Given the description of an element on the screen output the (x, y) to click on. 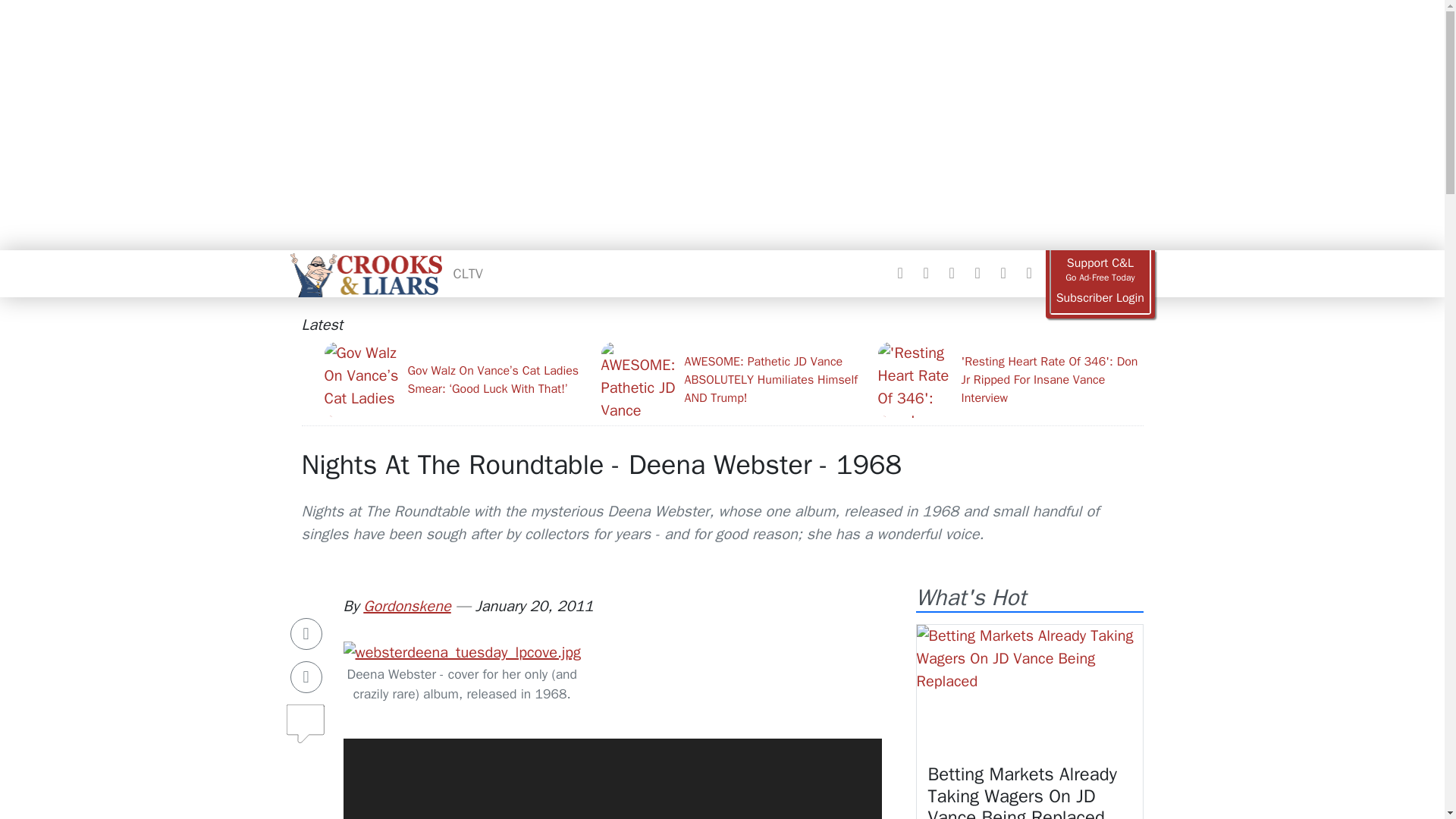
Login to your ad free account (1099, 298)
Gordonskene (405, 606)
Gordonskene (405, 606)
Share on Facebook (306, 634)
Comments (306, 717)
Nights At The Roundtable - Deena Webster - 1968 (601, 464)
Share on Twitter (306, 676)
Subscriber Login (1099, 298)
Go ad free today! (1099, 270)
CLTV (467, 273)
